Given the description of an element on the screen output the (x, y) to click on. 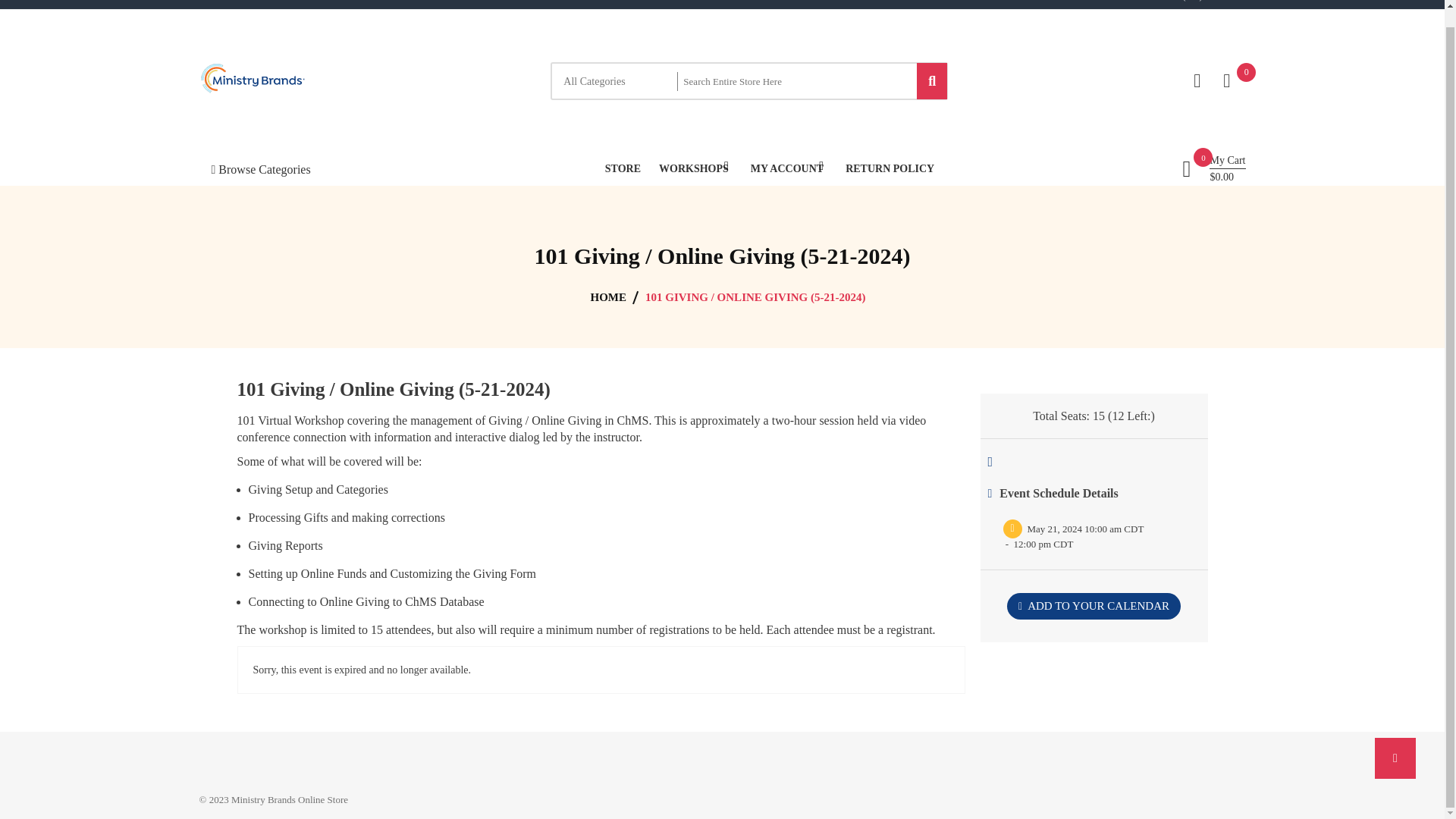
Browse Categories (259, 168)
WORKSHOPS (694, 168)
STORE (622, 168)
